Given the description of an element on the screen output the (x, y) to click on. 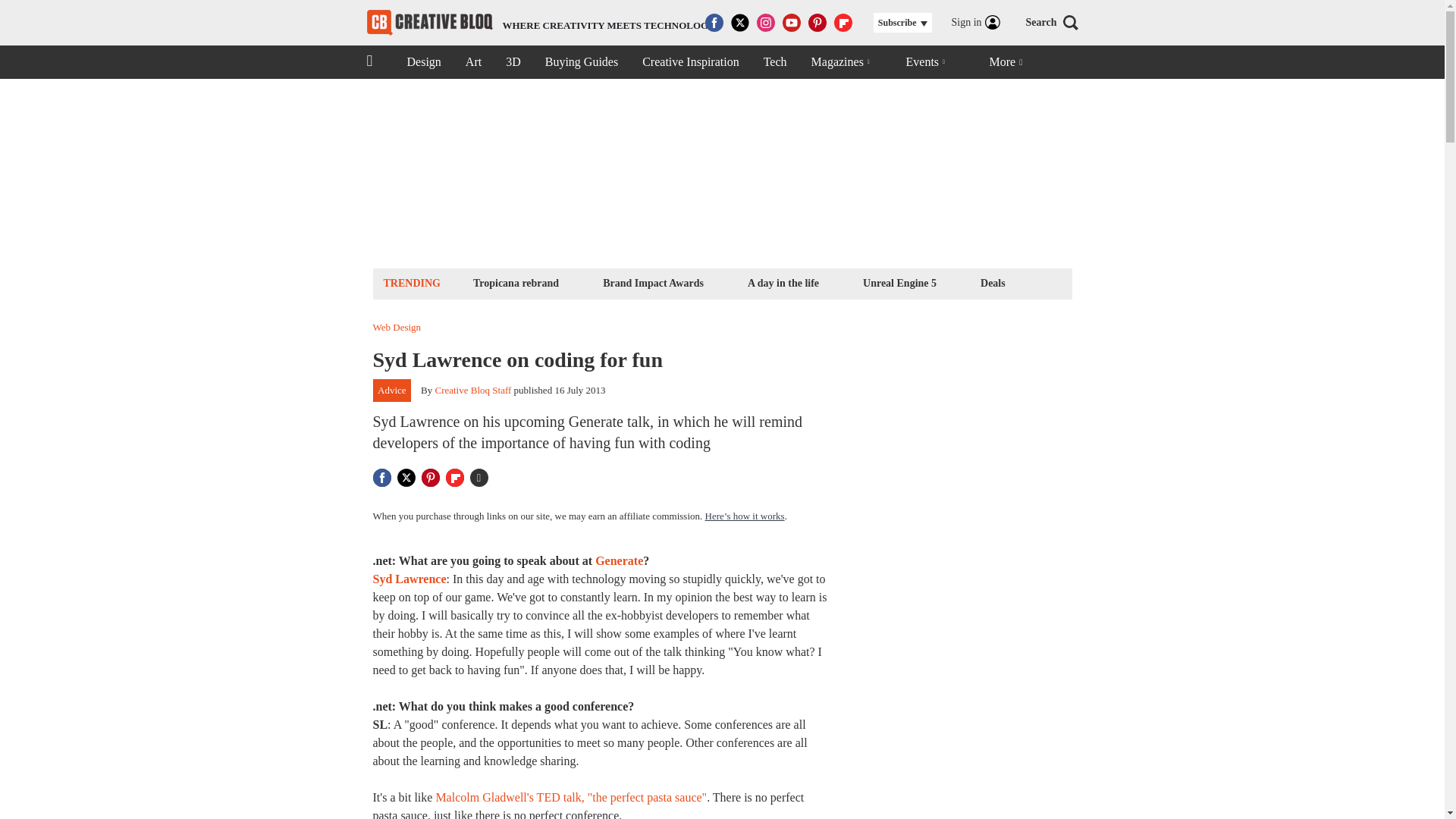
Tech (775, 61)
Art (472, 61)
Tropicana rebrand (515, 282)
Advice (392, 390)
Buying Guides (581, 61)
Brand Impact Awards (652, 282)
Web Design (397, 327)
Creative Bloq Staff (472, 389)
Creative Bloq (429, 22)
3D (541, 22)
Design (512, 61)
Unreal Engine 5 (423, 61)
Deals (899, 282)
A day in the life (992, 282)
